Given the description of an element on the screen output the (x, y) to click on. 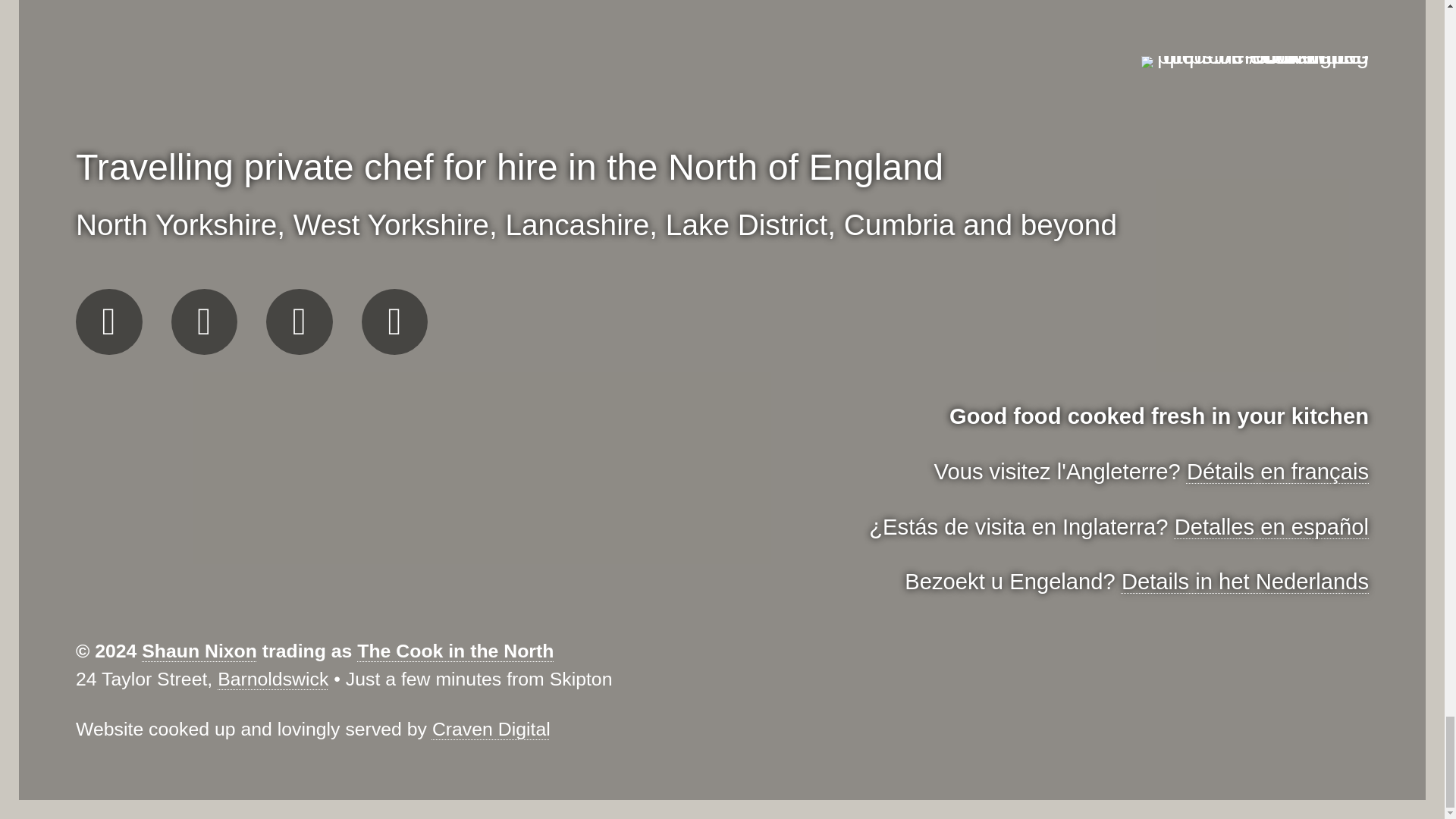
Private chef West Yorkshire (391, 224)
Private chef North Yorkshire (175, 224)
cropped-the-cook-in-the-north-white-cutout.png (1254, 61)
Private chef Lancashire (577, 224)
Private chef Lake District (746, 224)
Private chef Cumbria (899, 224)
